Given the description of an element on the screen output the (x, y) to click on. 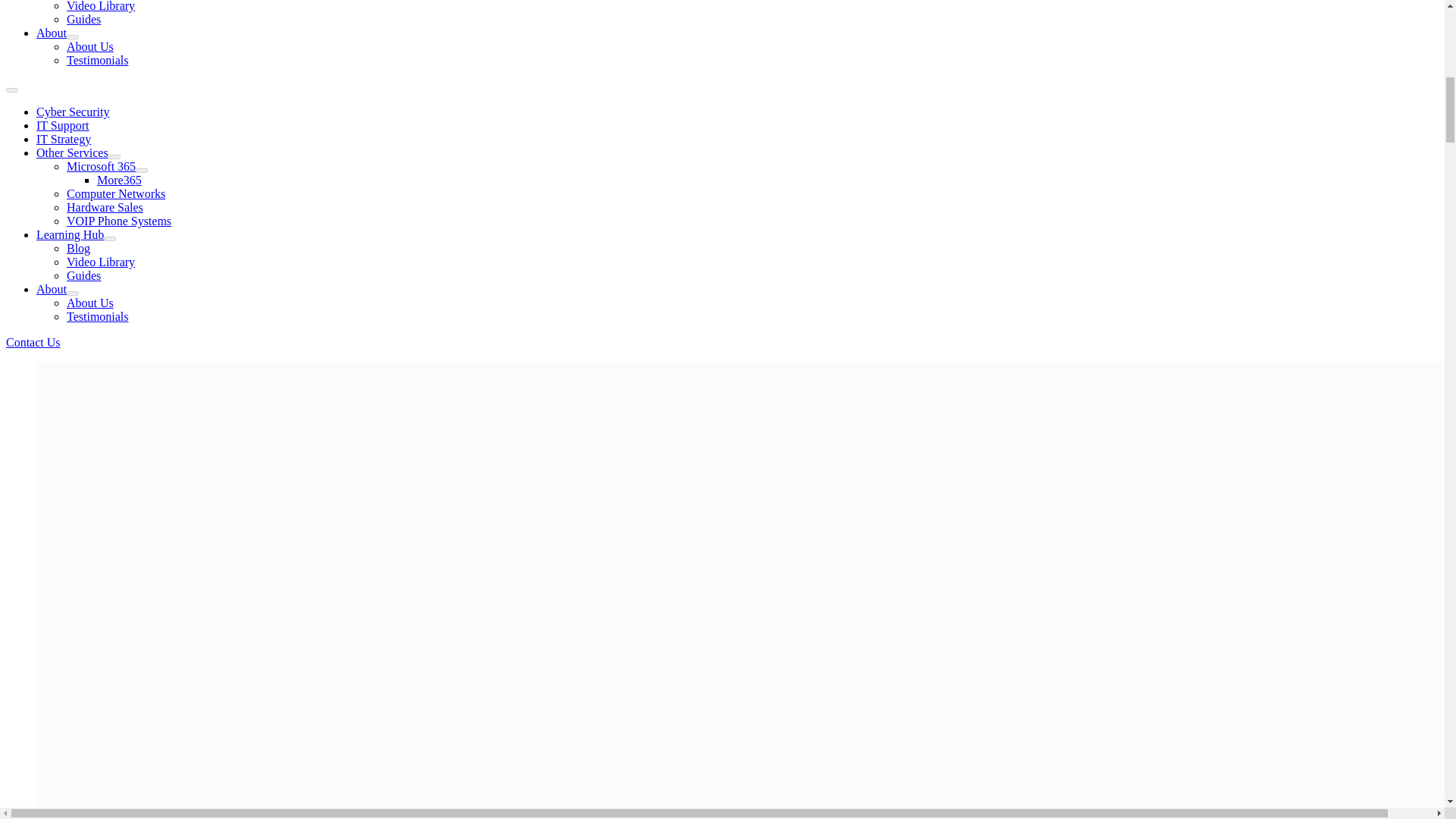
Video Library (100, 6)
Hardware Sales (104, 206)
Learning Hub (69, 234)
Testimonials (97, 60)
More365 (119, 179)
About Us (89, 46)
Microsoft 365 (100, 165)
Other Services (71, 152)
Cyber Security (72, 111)
VOIP Phone Systems (118, 220)
IT Support (62, 124)
Computer Networks (115, 193)
IT Strategy (63, 138)
About (51, 32)
Guides (83, 19)
